Given the description of an element on the screen output the (x, y) to click on. 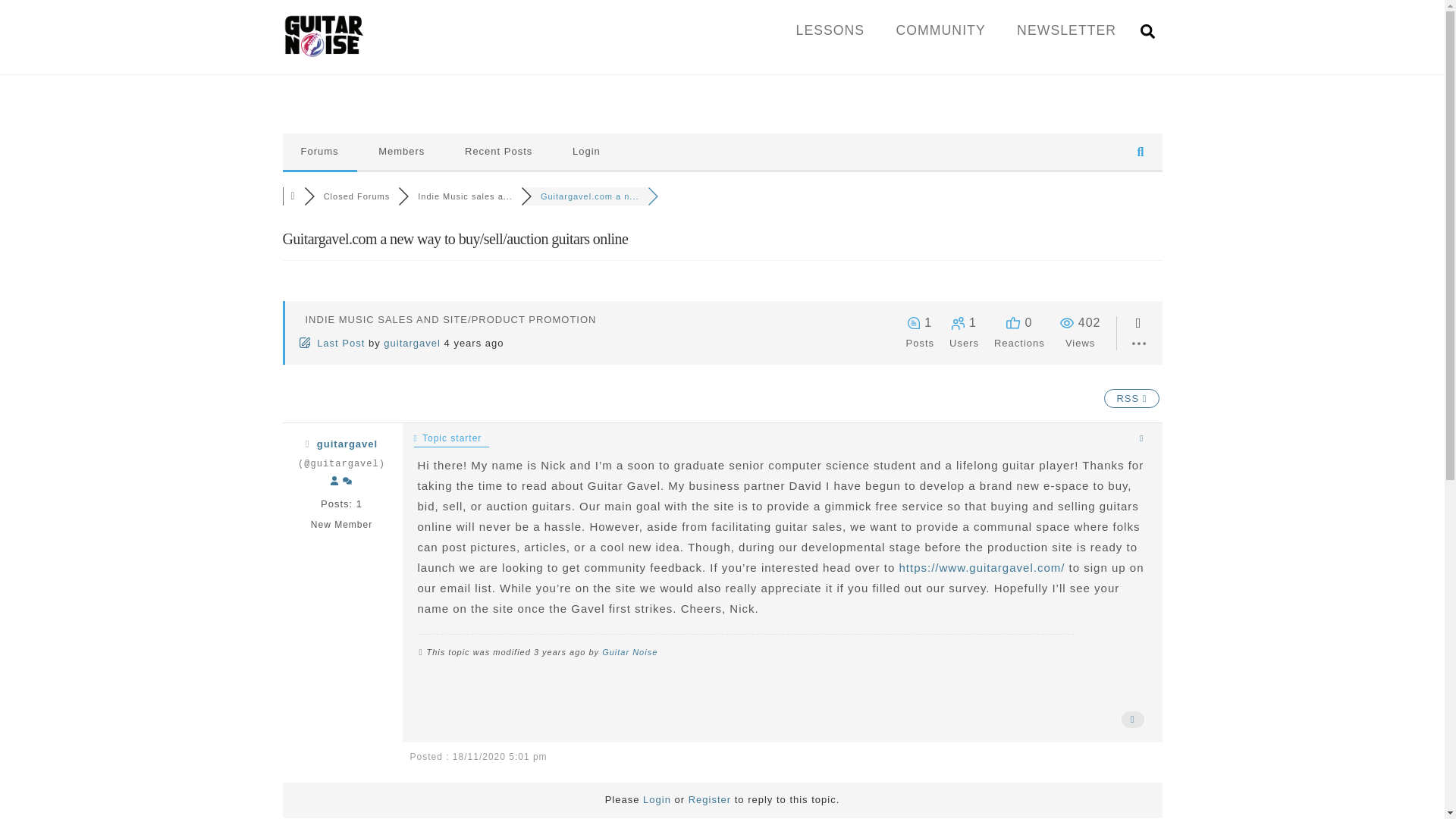
COMMUNITY (940, 31)
Guitar Noise (323, 51)
Search (1146, 30)
guitargavel (412, 342)
NEWSLETTER (1067, 31)
Login (586, 151)
Last Post (333, 342)
guitargavel (347, 443)
RSS (1130, 398)
Topic RSS Feed (1130, 398)
